Given the description of an element on the screen output the (x, y) to click on. 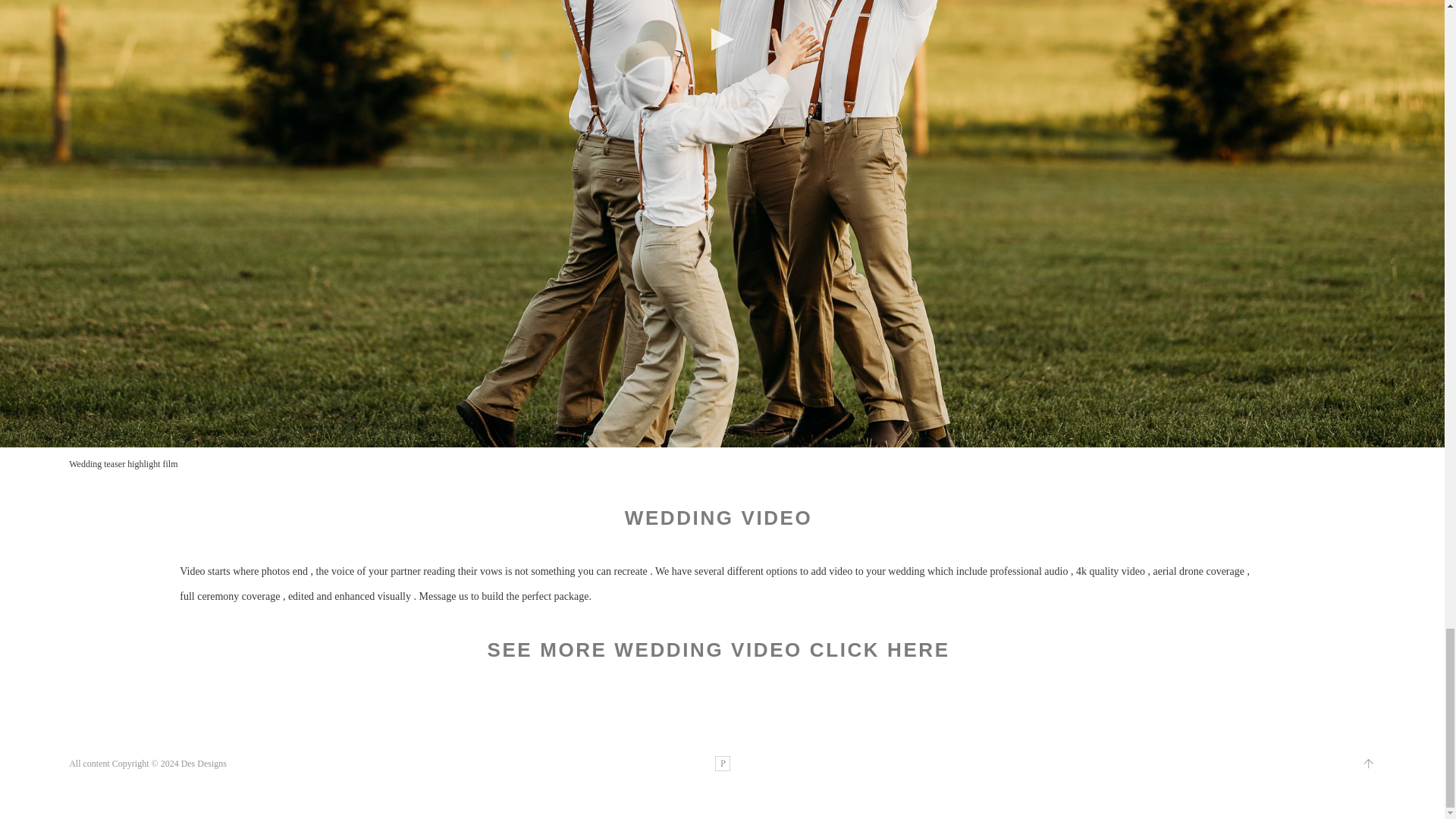
SEE MORE WEDDING VIDEO CLICK HERE (717, 649)
